Given the description of an element on the screen output the (x, y) to click on. 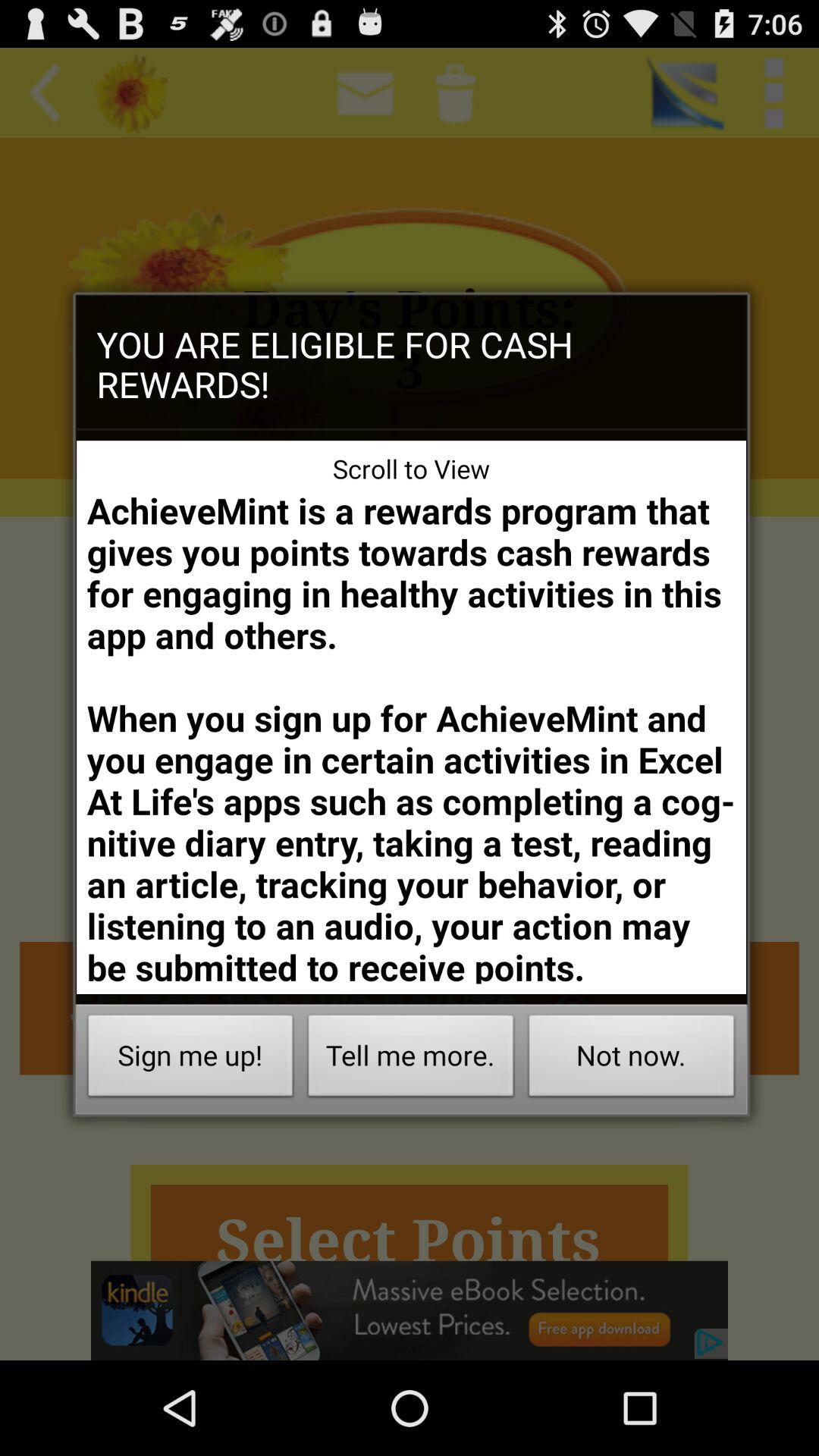
launch the button to the right of the tell me more. button (631, 1059)
